Given the description of an element on the screen output the (x, y) to click on. 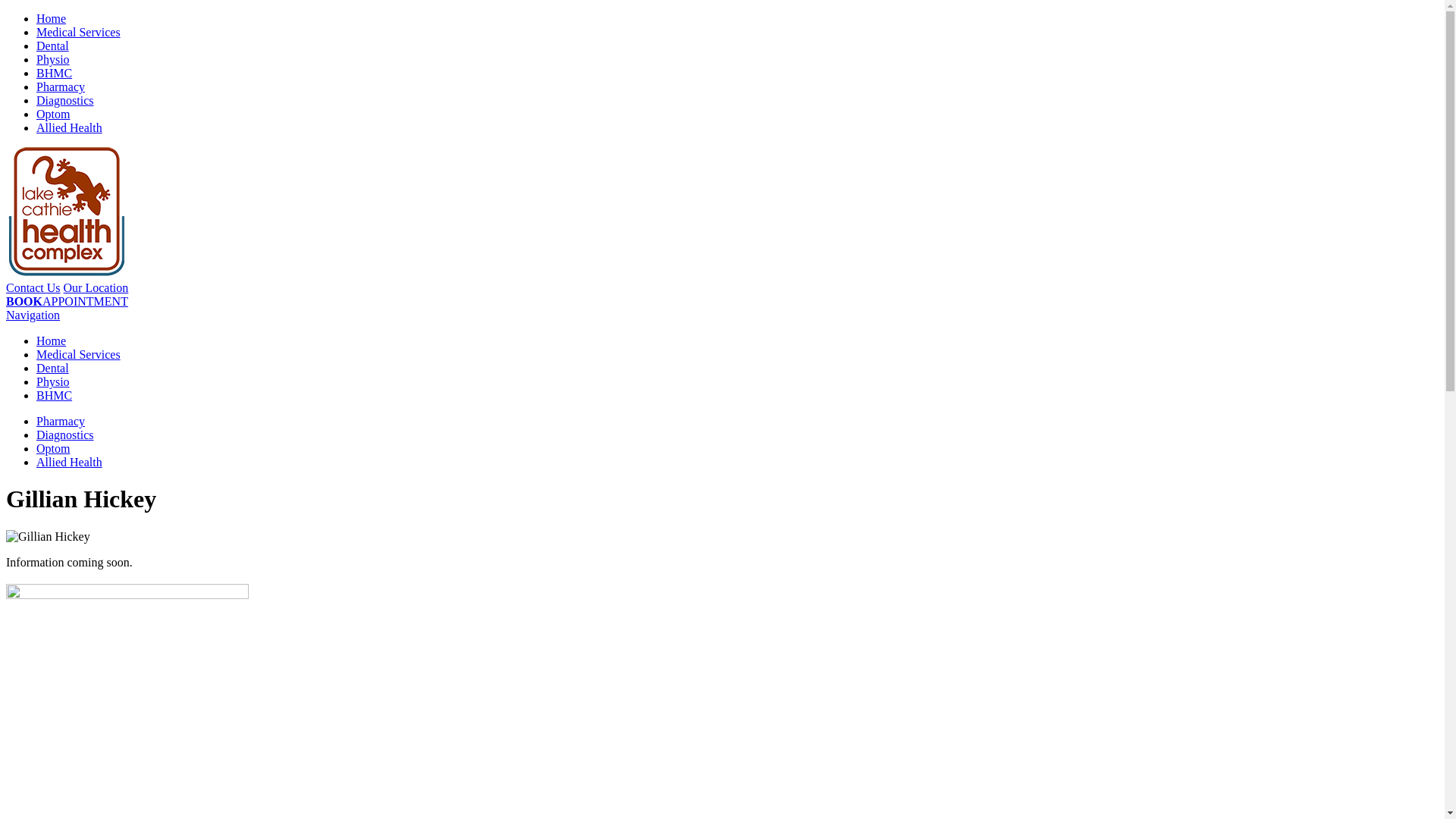
Navigation Element type: text (32, 314)
Optom Element type: text (52, 448)
Diagnostics Element type: text (65, 434)
Pharmacy Element type: text (60, 86)
Allied Health Element type: text (69, 127)
Our Location Element type: text (95, 287)
BOOKAPPOINTMENT Element type: text (67, 300)
Medical Services Element type: text (78, 31)
Contact Us Element type: text (33, 287)
Medical Services Element type: text (78, 354)
BHMC Element type: text (54, 395)
Pharmacy Element type: text (60, 420)
Allied Health Element type: text (69, 461)
Diagnostics Element type: text (65, 100)
Home Element type: text (50, 340)
BHMC Element type: text (54, 72)
Home Element type: text (50, 18)
Dental Element type: text (52, 45)
Physio Element type: text (52, 381)
Optom Element type: text (52, 113)
Physio Element type: text (52, 59)
Dental Element type: text (52, 367)
